Given the description of an element on the screen output the (x, y) to click on. 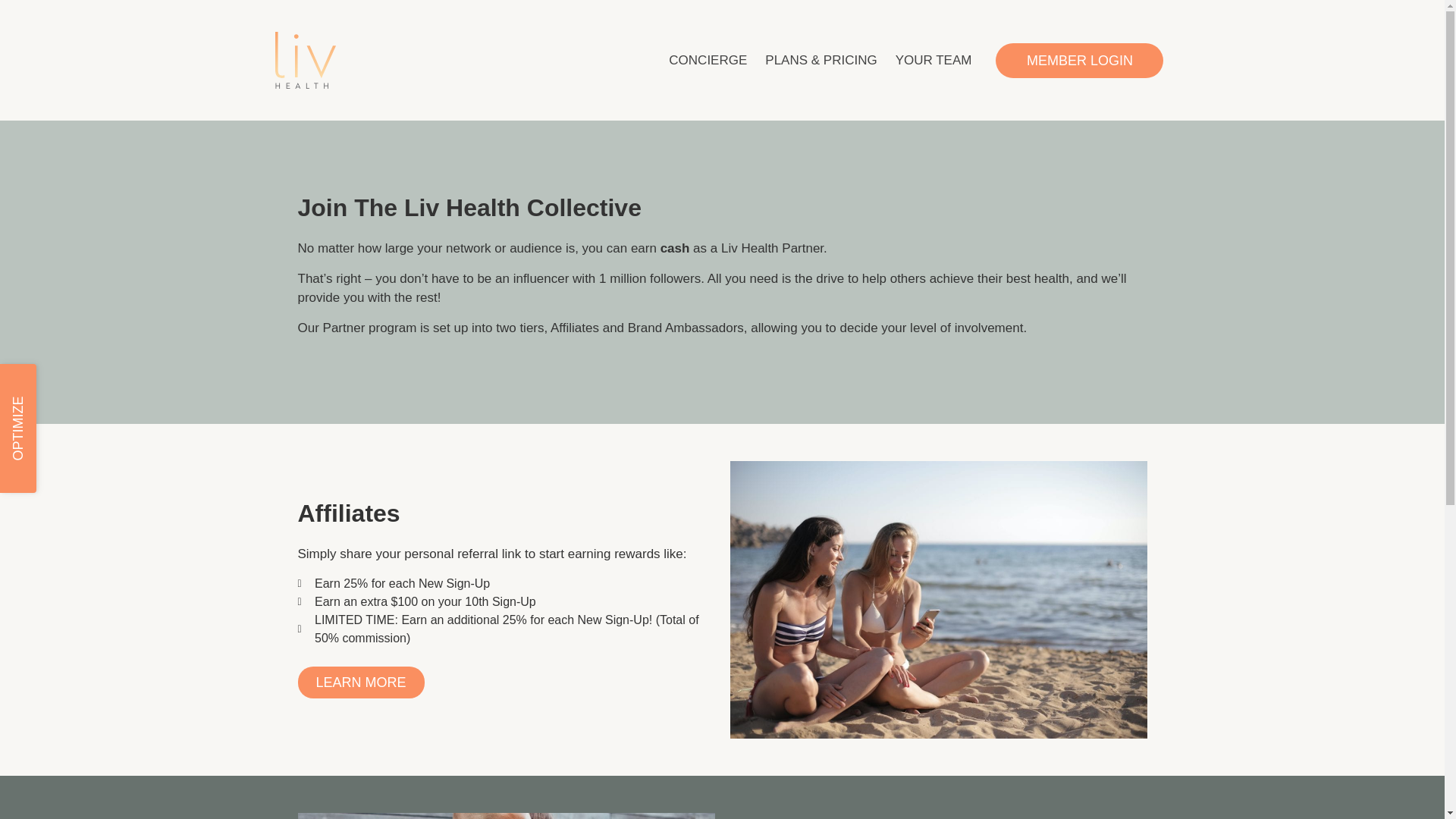
MEMBER LOGIN (1079, 60)
CONCIERGE (707, 60)
LEARN MORE (360, 682)
YOUR TEAM (933, 60)
OPTIMIZE (64, 381)
